Given the description of an element on the screen output the (x, y) to click on. 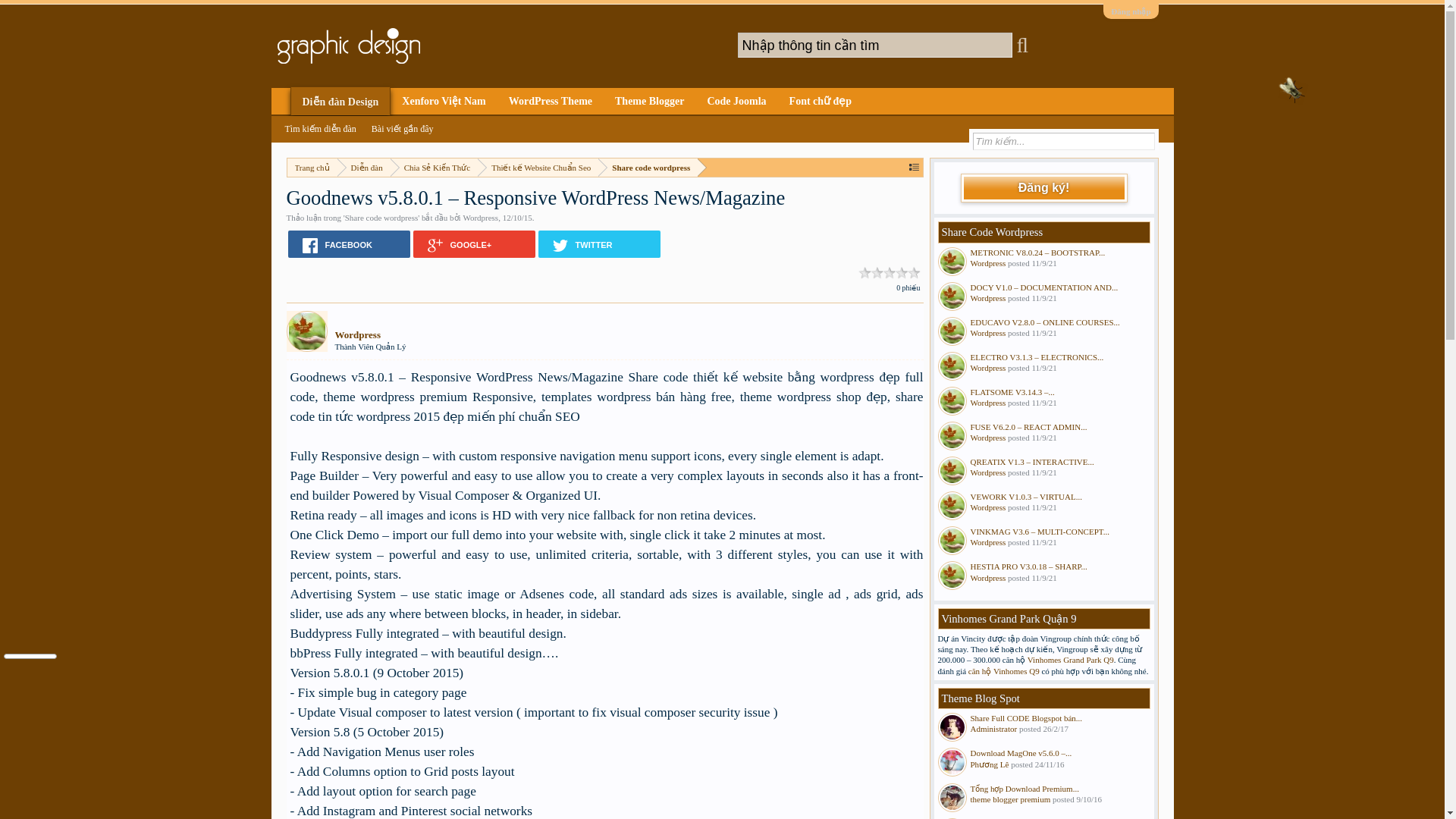
FACEBOOK (349, 243)
Wordpress (480, 216)
TWITTER (599, 243)
2 (876, 273)
3 (889, 273)
Wordpress (370, 335)
Share code wordpress (382, 216)
5 (914, 273)
1 (865, 273)
4 (901, 273)
